Given the description of an element on the screen output the (x, y) to click on. 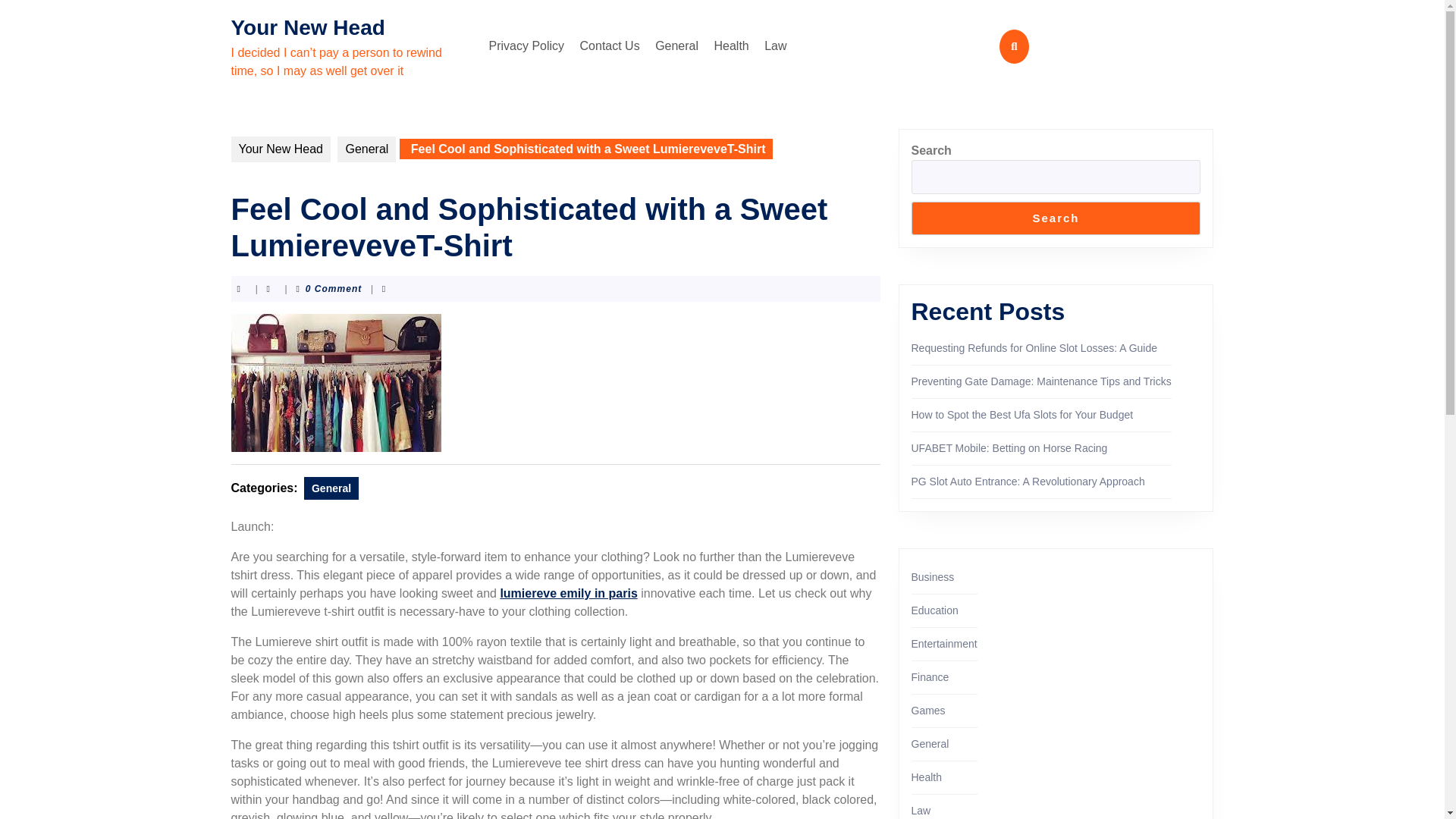
PG Slot Auto Entrance: A Revolutionary Approach (1027, 481)
Business (933, 576)
General (331, 487)
General (366, 149)
How to Spot the Best Ufa Slots for Your Budget (1022, 414)
Health (926, 776)
Entertainment (943, 644)
Health (731, 46)
Your New Head (280, 149)
Law (775, 46)
